Given the description of an element on the screen output the (x, y) to click on. 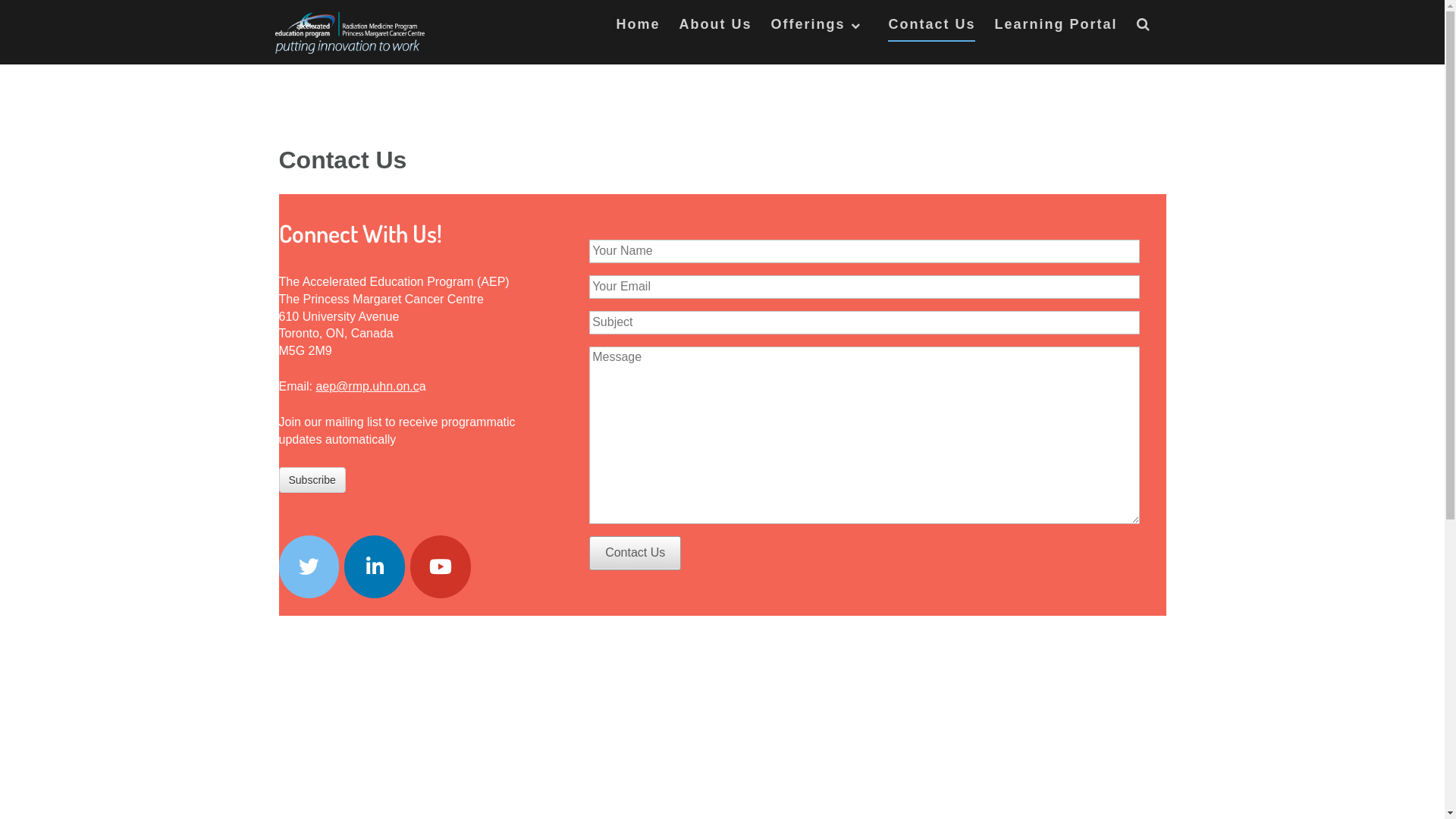
About Us Element type: text (714, 27)
Aepeducation.ca on Twitter Element type: hover (309, 566)
Aepeducation.ca on Youtube Element type: hover (440, 566)
Offerings Element type: text (819, 27)
Subscribe Element type: text (312, 479)
Aepeducation.ca on Linkedin Element type: hover (374, 566)
Home Element type: text (637, 27)
aep@rmp.uhn.on.ca Element type: text (370, 385)
Contact Us Element type: text (931, 28)
Learning Portal Element type: text (1055, 27)
Aepeducation.ca Element type: hover (348, 32)
Skip to content Element type: text (0, 0)
Contact Us Element type: text (634, 553)
